Given the description of an element on the screen output the (x, y) to click on. 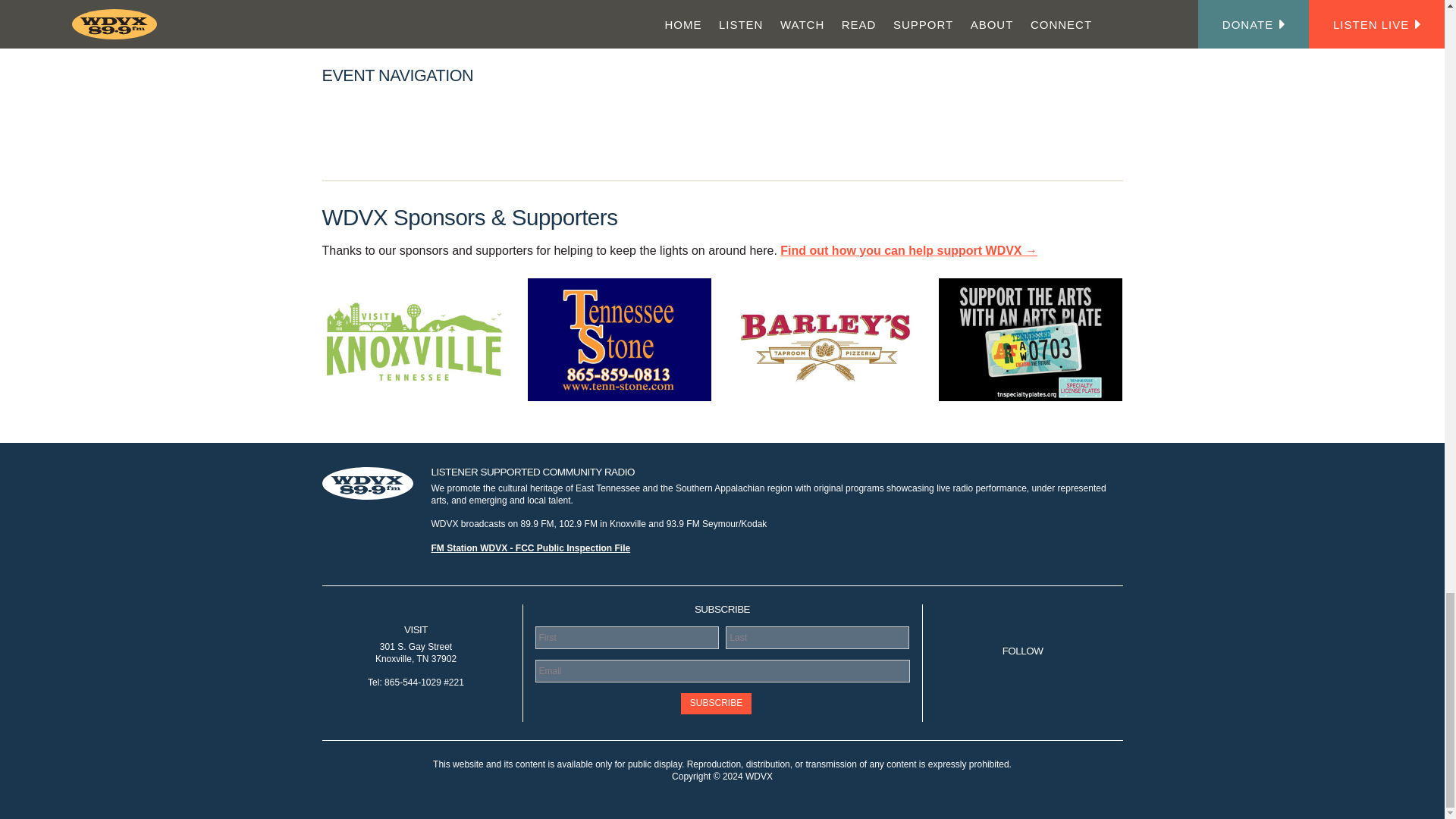
Subscribe (716, 703)
